Given the description of an element on the screen output the (x, y) to click on. 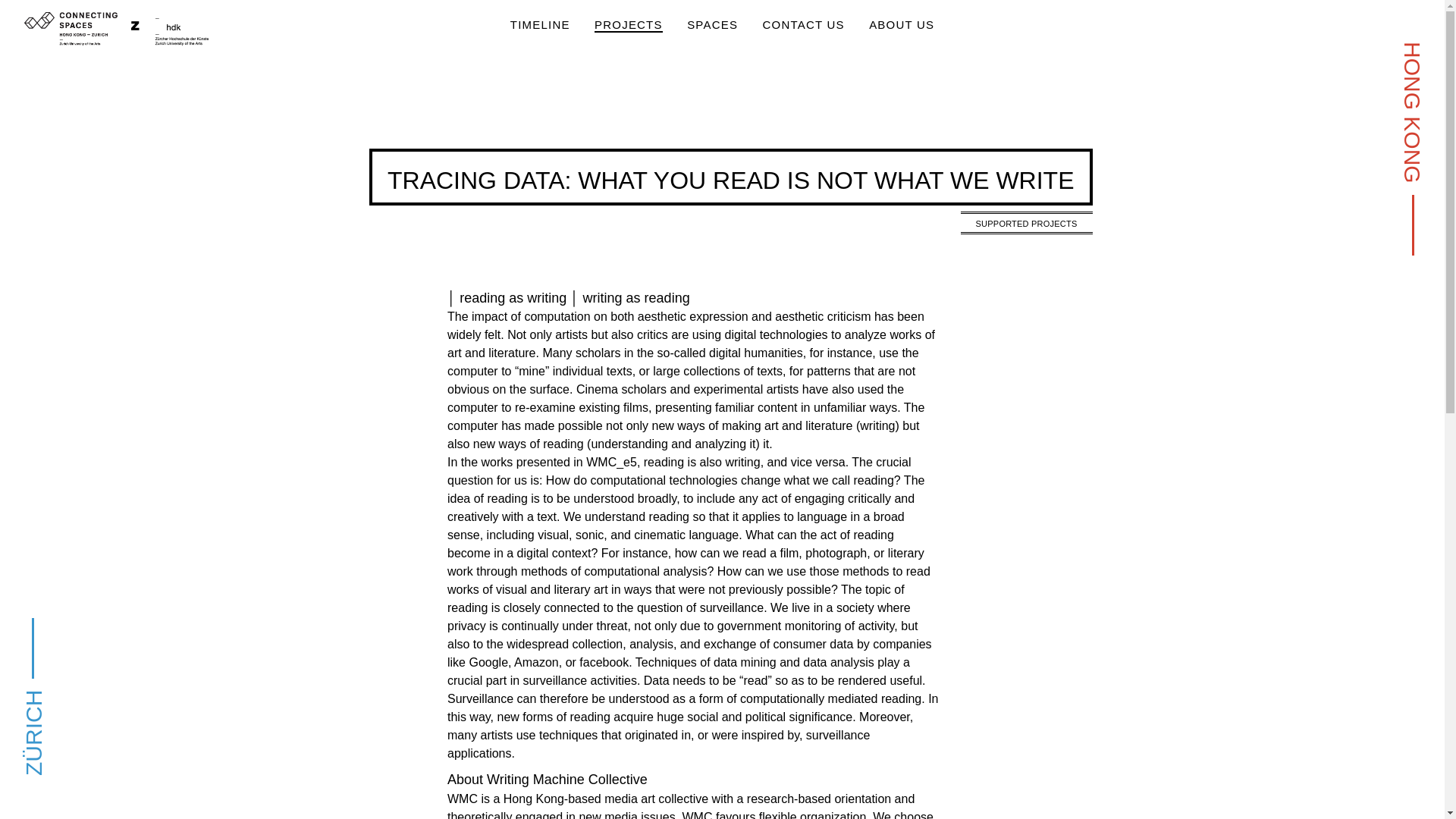
ABOUT US (901, 25)
SUPPORTED PROJECTS (1026, 222)
SPACES (712, 25)
TIMELINE (540, 25)
CONTACT US (803, 25)
PROJECTS (628, 25)
